Given the description of an element on the screen output the (x, y) to click on. 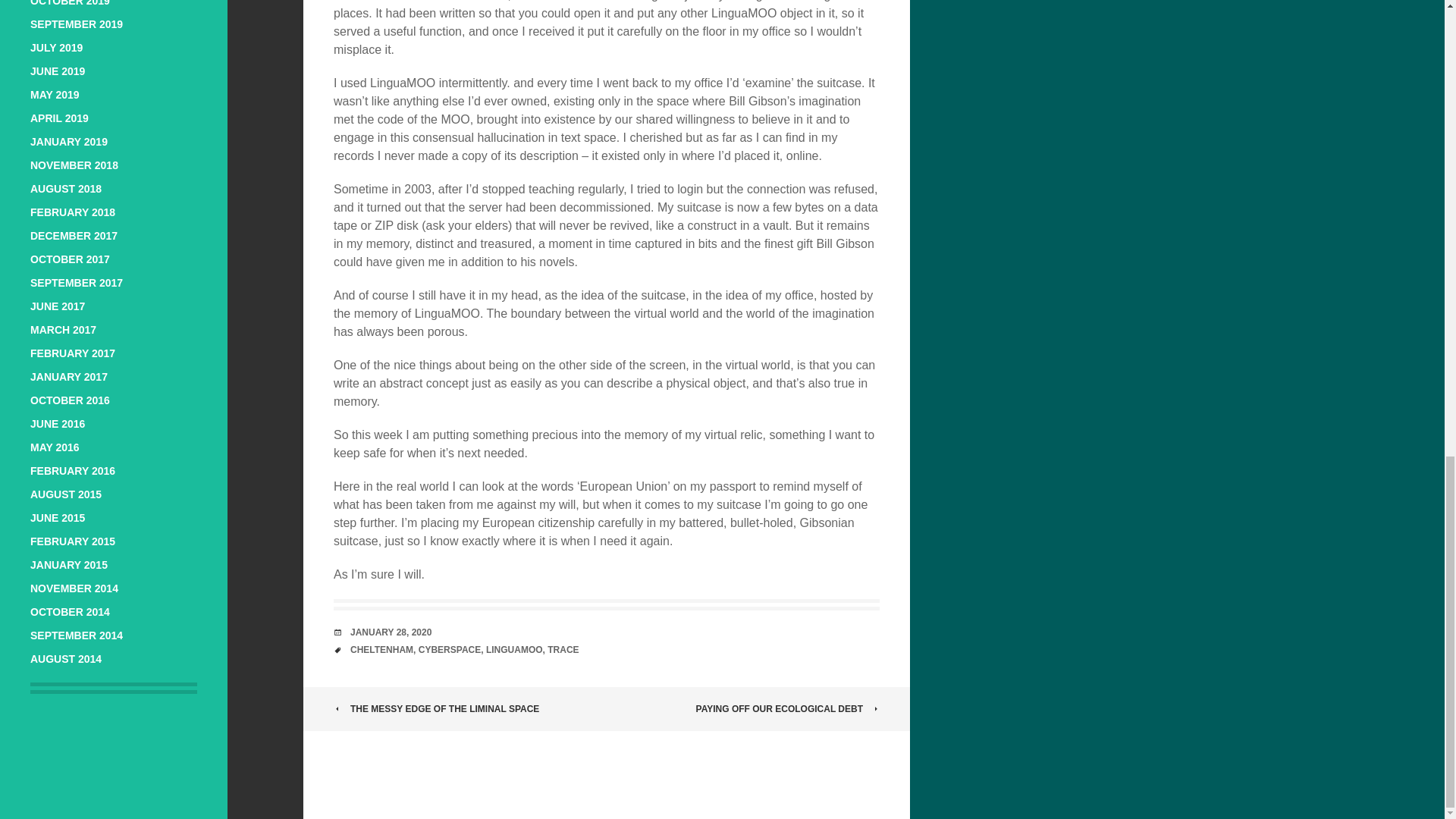
NOVEMBER 2018 (73, 164)
10:39 am (390, 632)
JULY 2019 (56, 47)
JUNE 2019 (57, 70)
APRIL 2019 (59, 118)
OCTOBER 2019 (70, 3)
FEBRUARY 2018 (72, 212)
JANUARY 2019 (68, 141)
MAY 2019 (55, 94)
SEPTEMBER 2019 (76, 24)
